Given the description of an element on the screen output the (x, y) to click on. 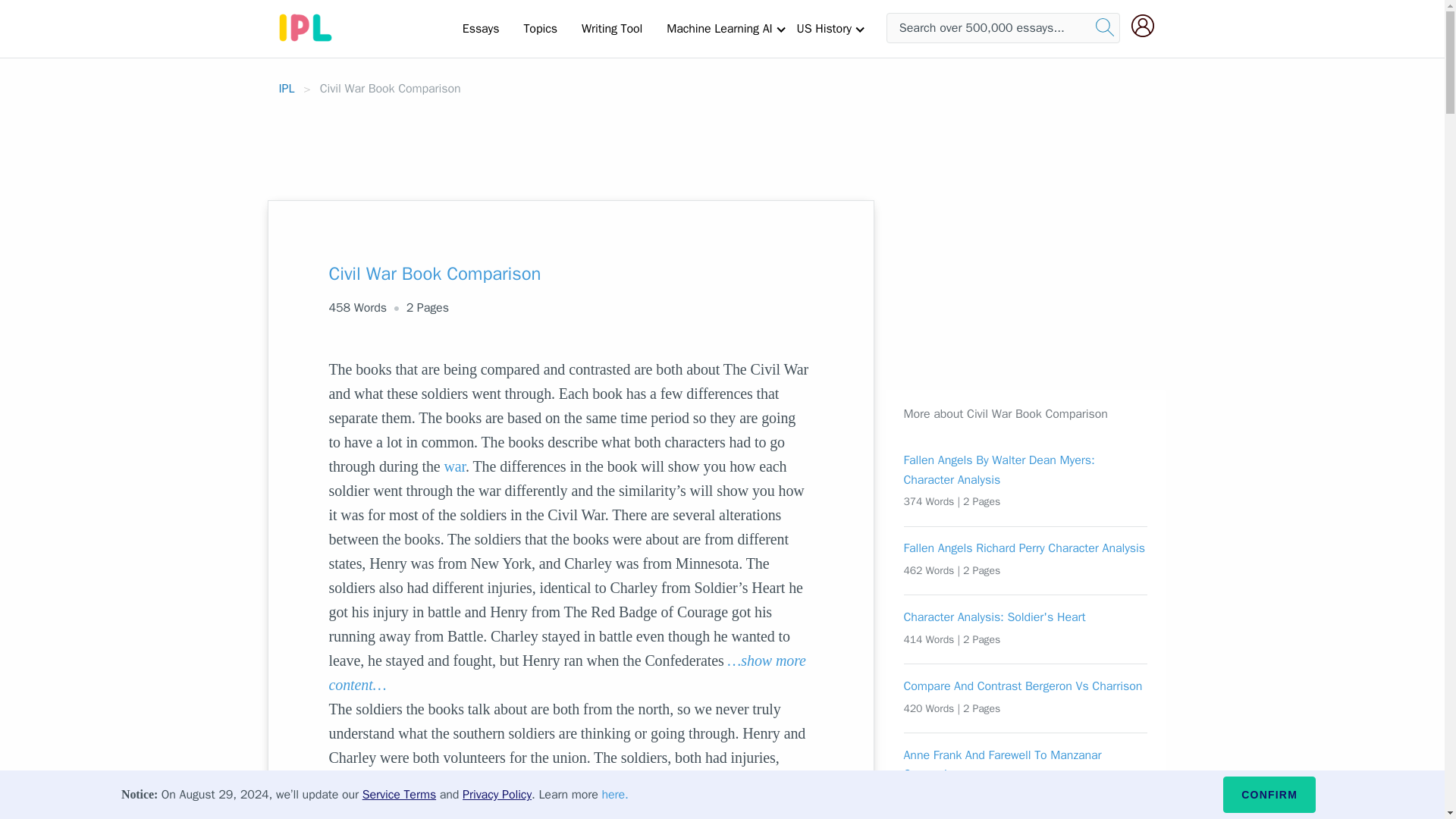
Writing Tool (611, 28)
war (454, 466)
Machine Learning AI (718, 28)
Essays (480, 28)
IPL (287, 88)
Topics (540, 28)
US History (823, 28)
